Given the description of an element on the screen output the (x, y) to click on. 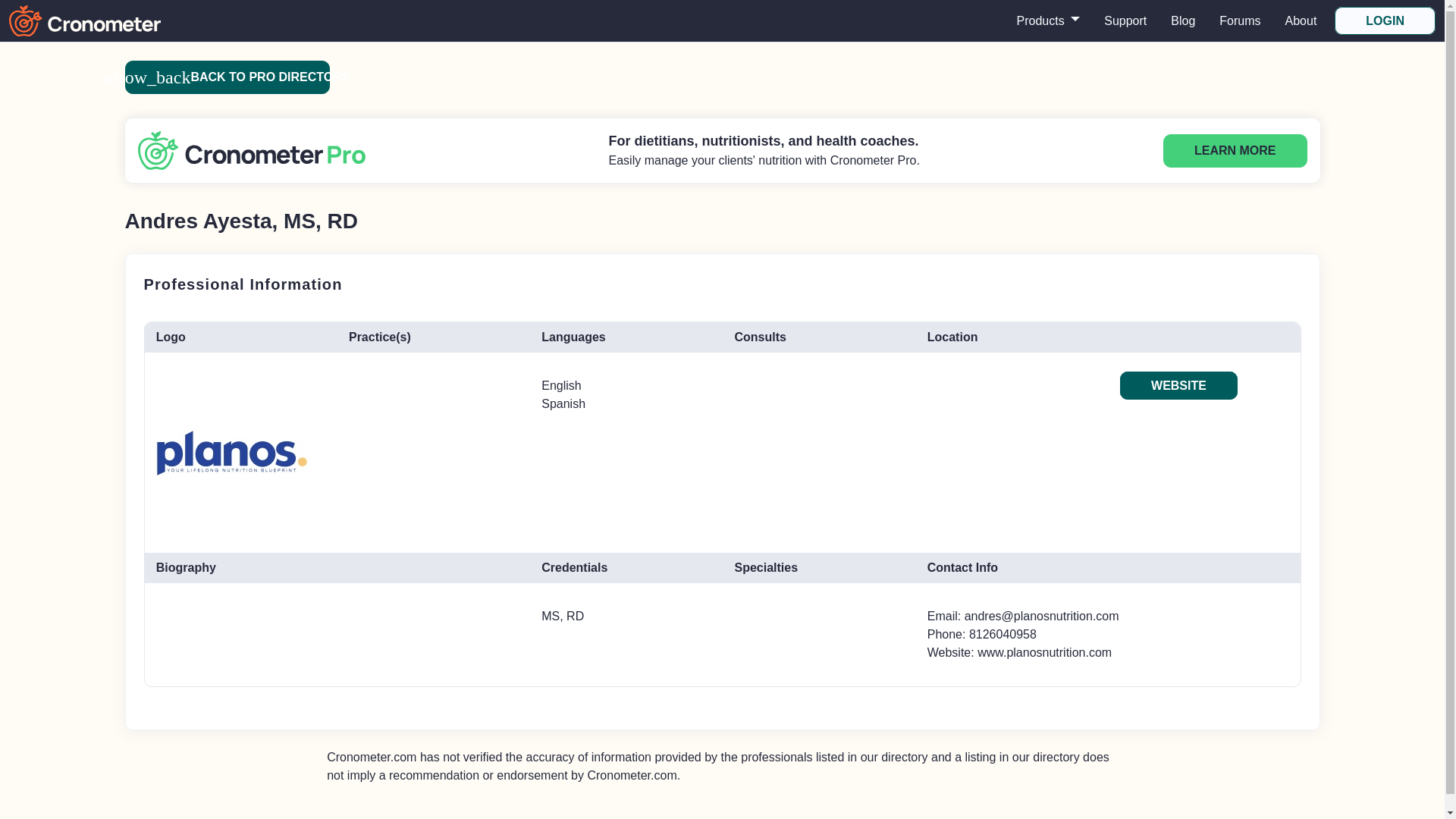
Support (1125, 20)
LOGIN (1385, 19)
Opens a widget where you can find more information (69, 792)
WEBSITE (1178, 385)
Forums (1239, 20)
About (1301, 20)
Blog (1182, 20)
Products (1048, 20)
LEARN MORE (1235, 150)
Cronometer (84, 19)
